Given the description of an element on the screen output the (x, y) to click on. 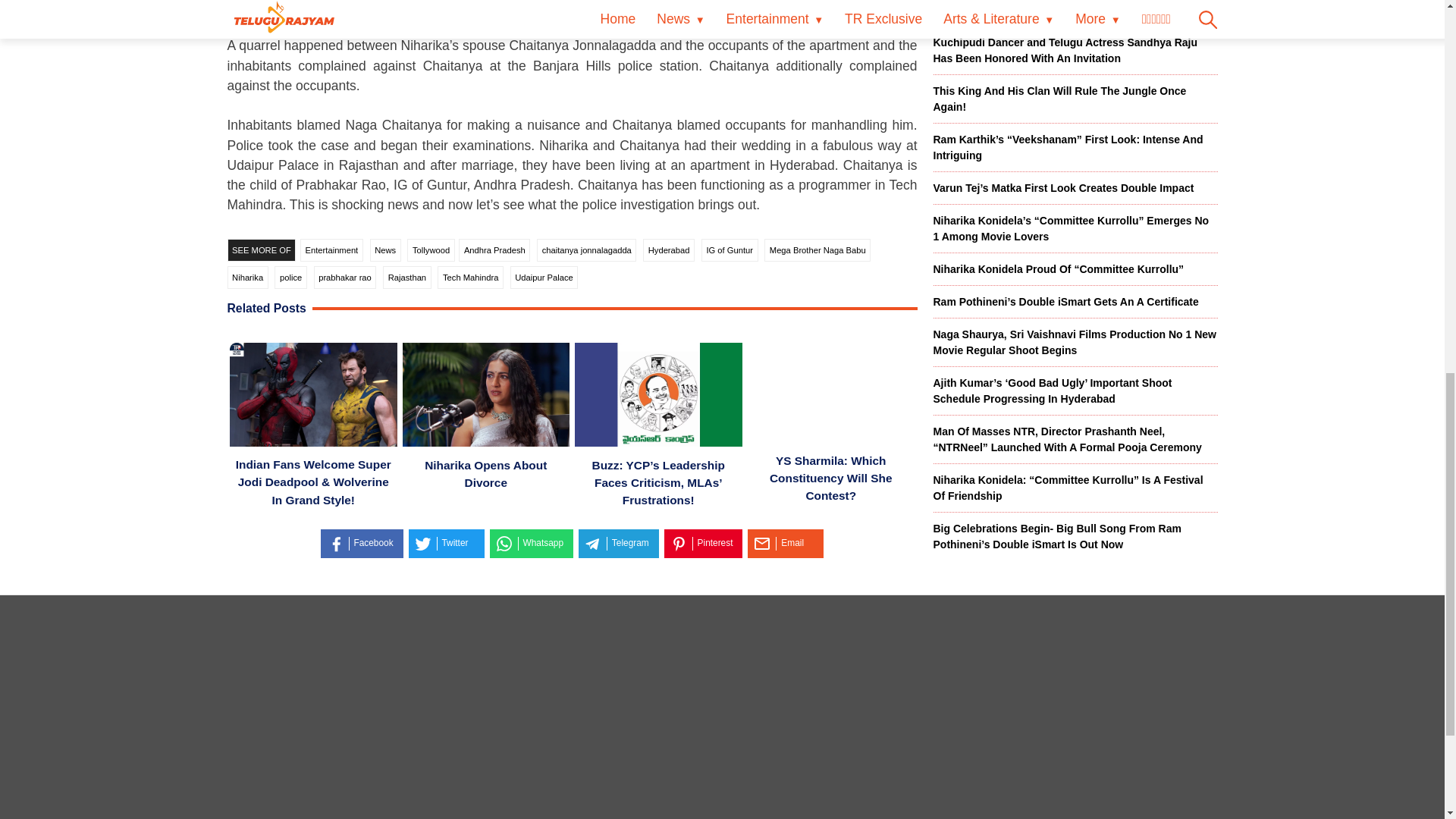
YS Sharmila: Which Constituency Will She Contest? (831, 395)
Niharika Opens About Divorce (485, 397)
Niharika Opens About Divorce (486, 473)
Entertainment (330, 250)
YS Sharmila: Which Constituency Will She Contest? (830, 478)
Tollywood (430, 250)
News (385, 250)
